Given the description of an element on the screen output the (x, y) to click on. 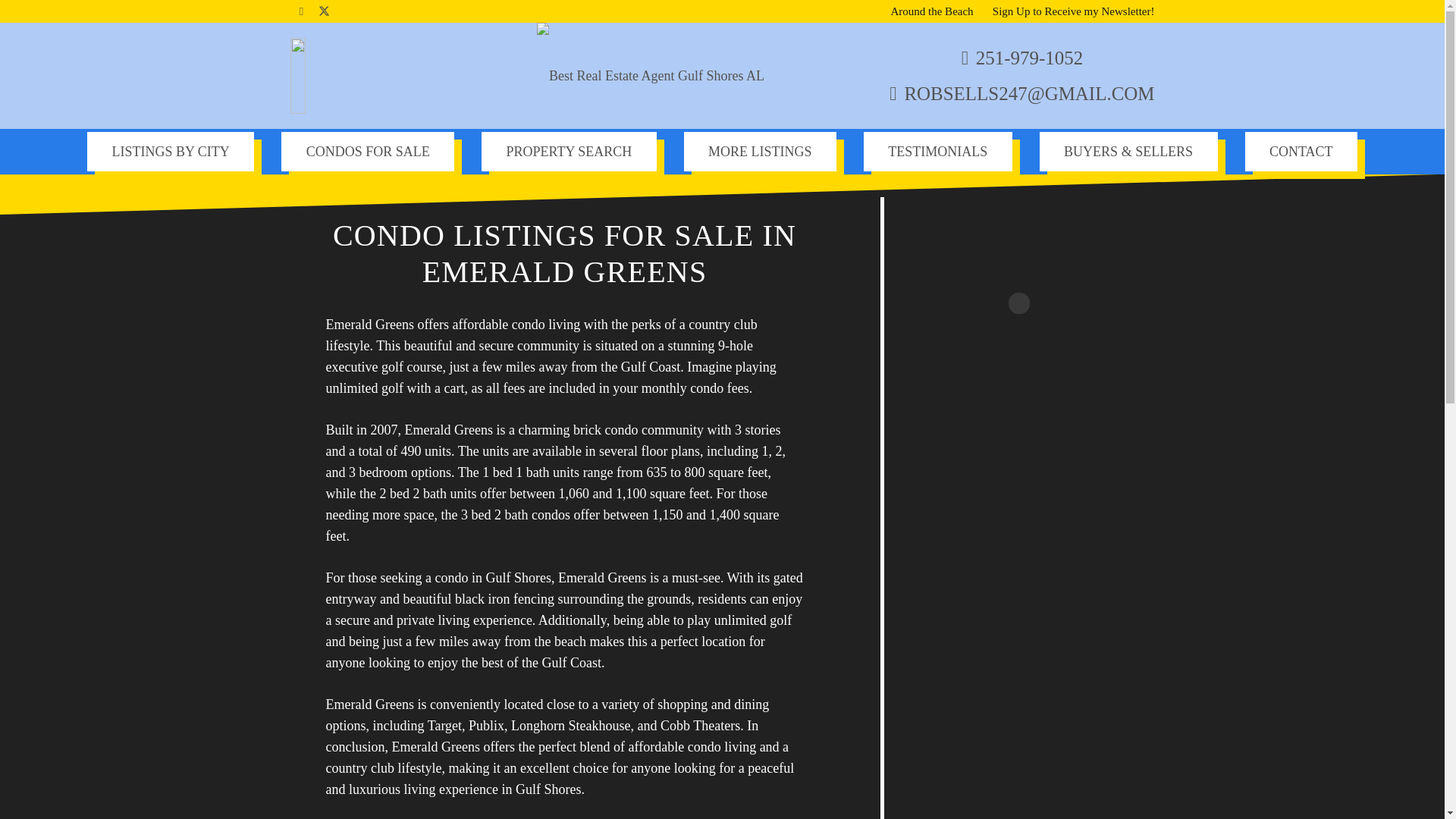
PROPERTY SEARCH (568, 150)
251-979-1052 (1021, 57)
Facebook (301, 11)
TESTIMONIALS (937, 150)
Property Search (568, 150)
MORE LISTINGS (759, 150)
CONDOS FOR SALE (367, 150)
Contact (1300, 150)
Sign Up to Receive my Newsletter! (1073, 10)
Twitter (323, 11)
LISTINGS BY CITY (170, 150)
Around the Beach (930, 10)
